Given the description of an element on the screen output the (x, y) to click on. 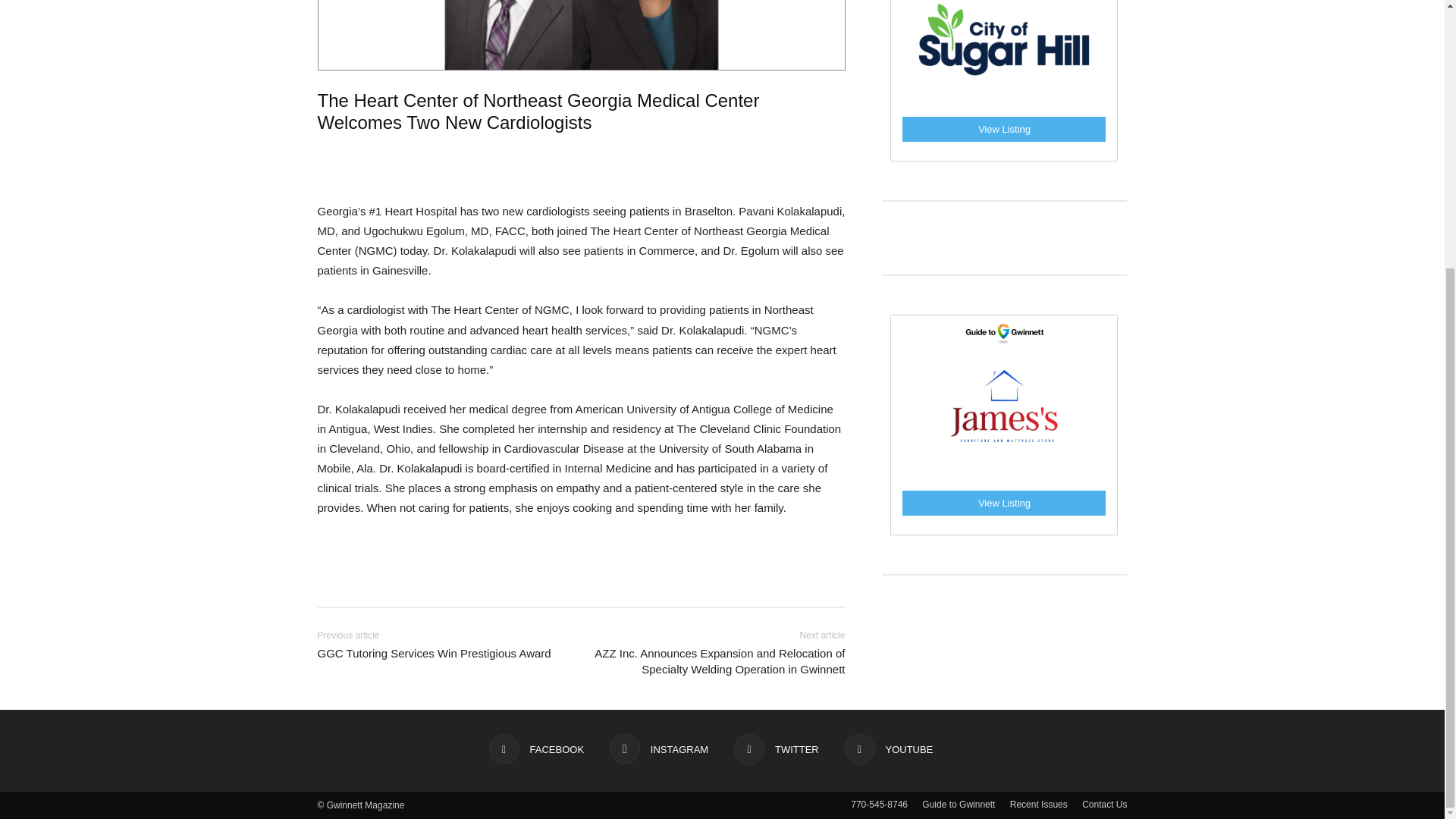
Instagram (658, 748)
Twitter (775, 748)
Facebook (536, 748)
Youtube (888, 748)
